Given the description of an element on the screen output the (x, y) to click on. 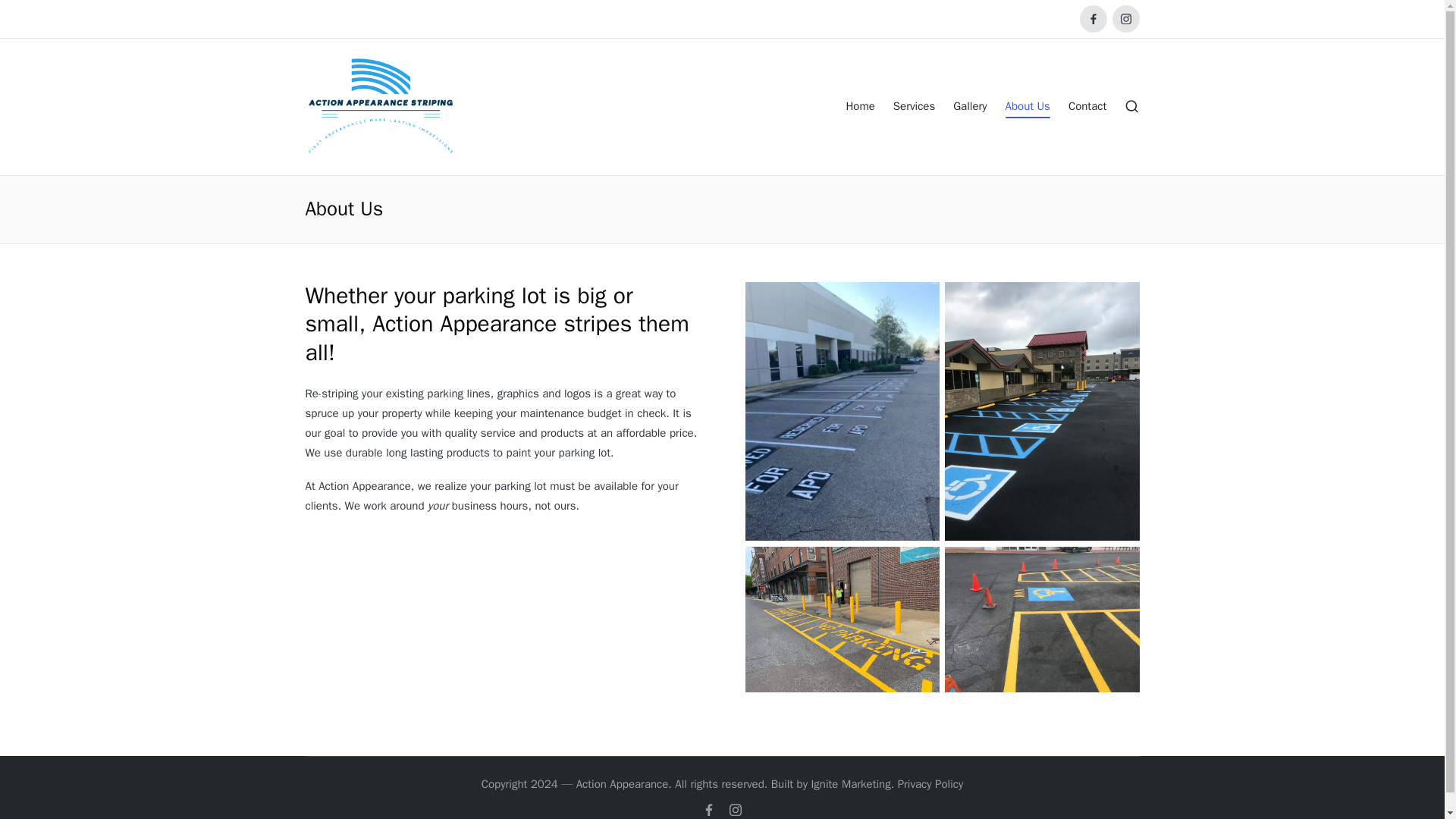
About Us (1027, 106)
Instagram (735, 809)
Facebook (1093, 18)
Instagram (1125, 18)
Home (860, 106)
Contact (1087, 106)
Privacy Policy (930, 784)
Services (913, 106)
Gallery (970, 106)
Facebook (708, 809)
